Given the description of an element on the screen output the (x, y) to click on. 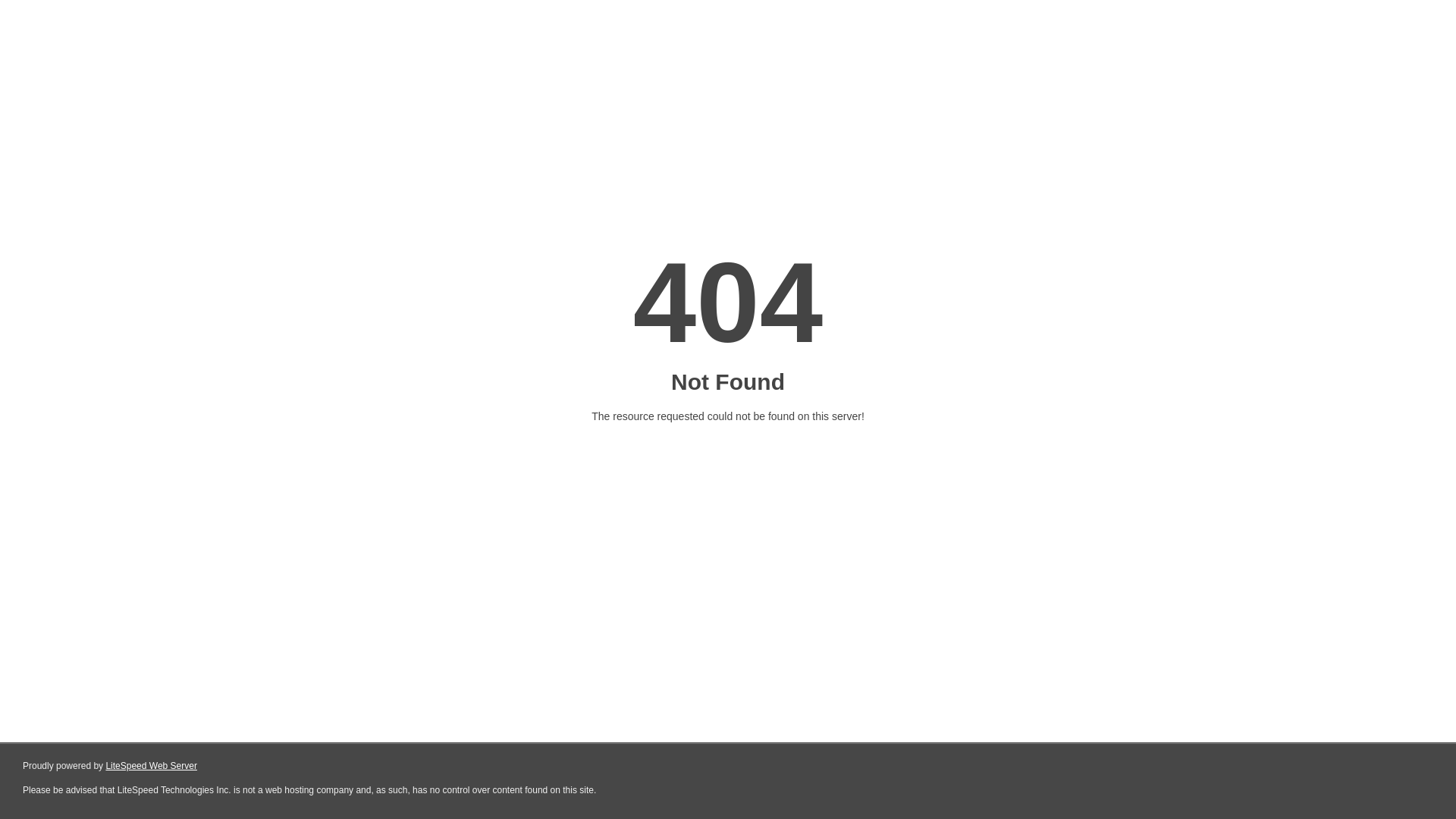
LiteSpeed Web Server Element type: text (151, 765)
